Given the description of an element on the screen output the (x, y) to click on. 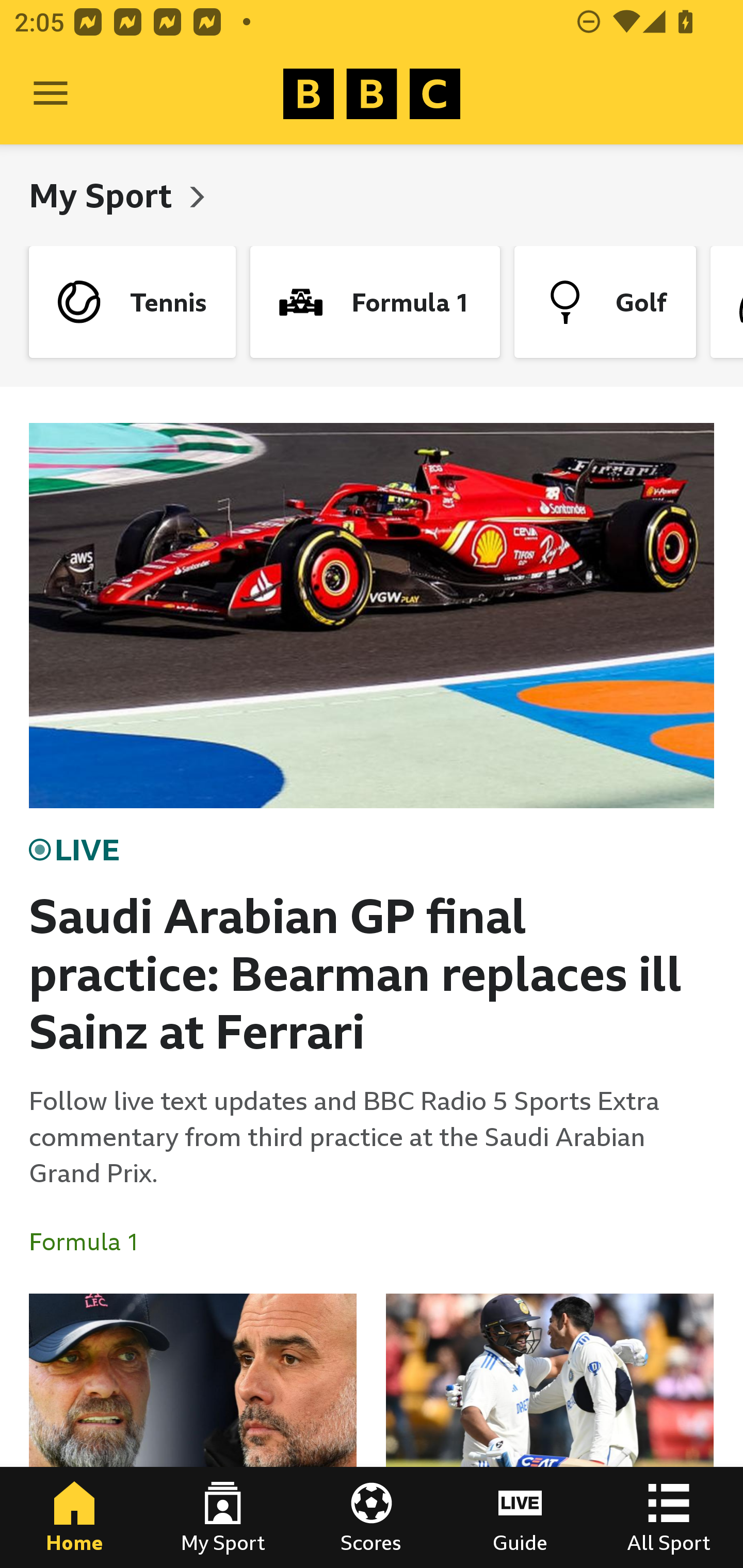
Open Menu (50, 93)
My Sport (104, 195)
Formula 1 In the section Formula 1 (91, 1241)
India build big lead despite Stokes' return wicket (549, 1430)
My Sport (222, 1517)
Scores (371, 1517)
Guide (519, 1517)
All Sport (668, 1517)
